Given the description of an element on the screen output the (x, y) to click on. 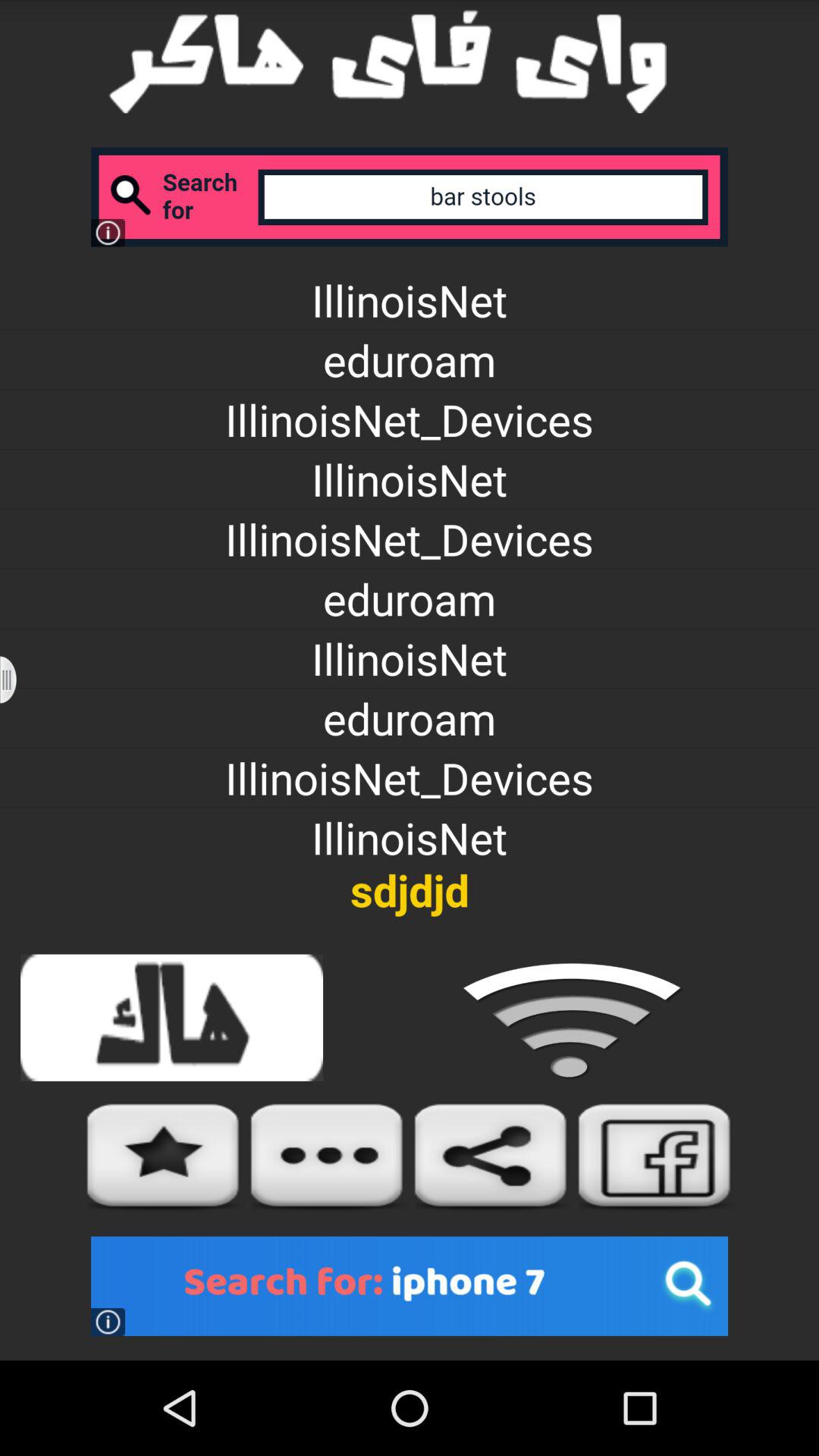
search section (409, 196)
